Given the description of an element on the screen output the (x, y) to click on. 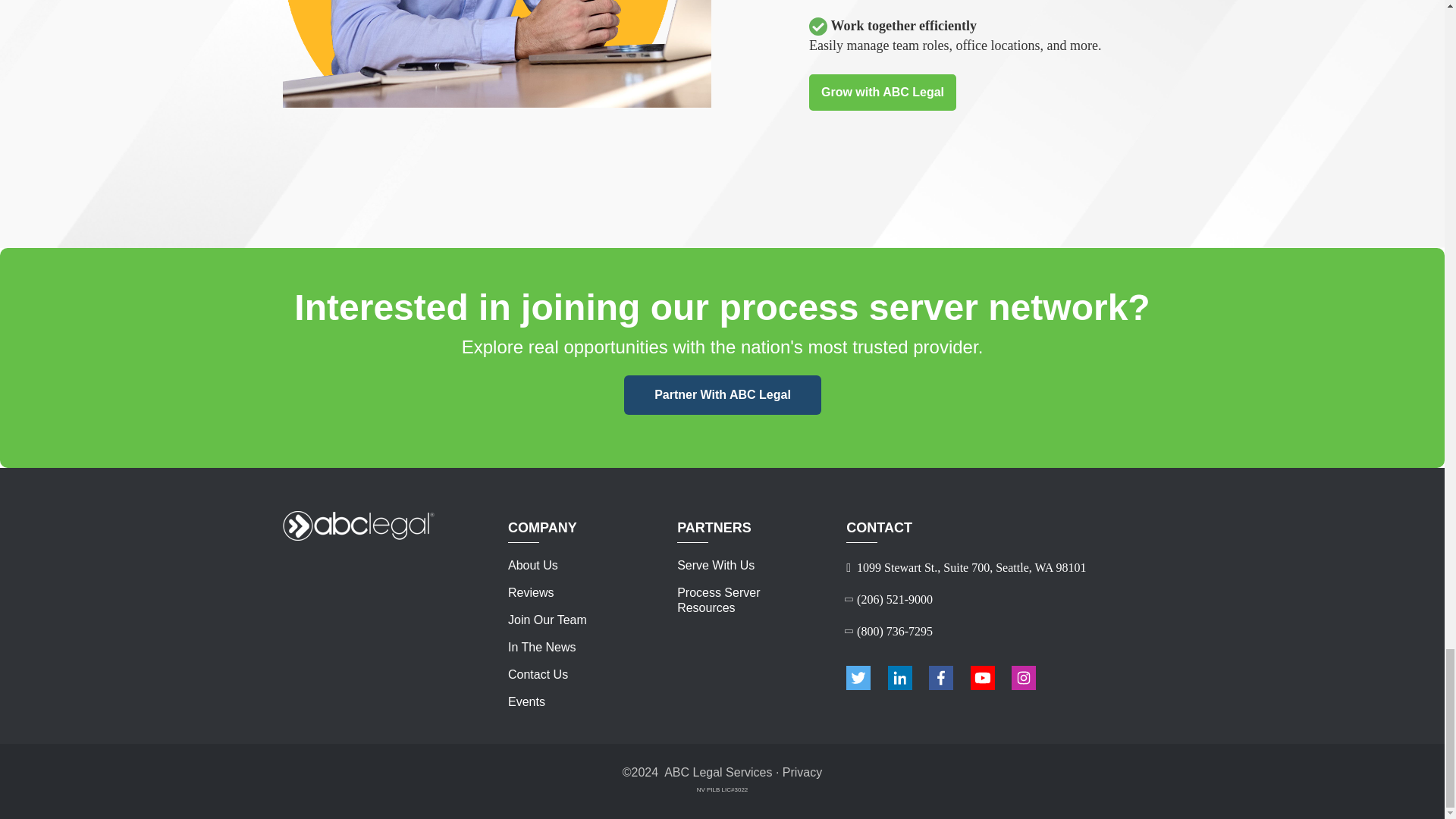
Embedded CTA (722, 394)
ABClegal-Logo-white (357, 525)
Grow with ABC Legal (882, 92)
